Given the description of an element on the screen output the (x, y) to click on. 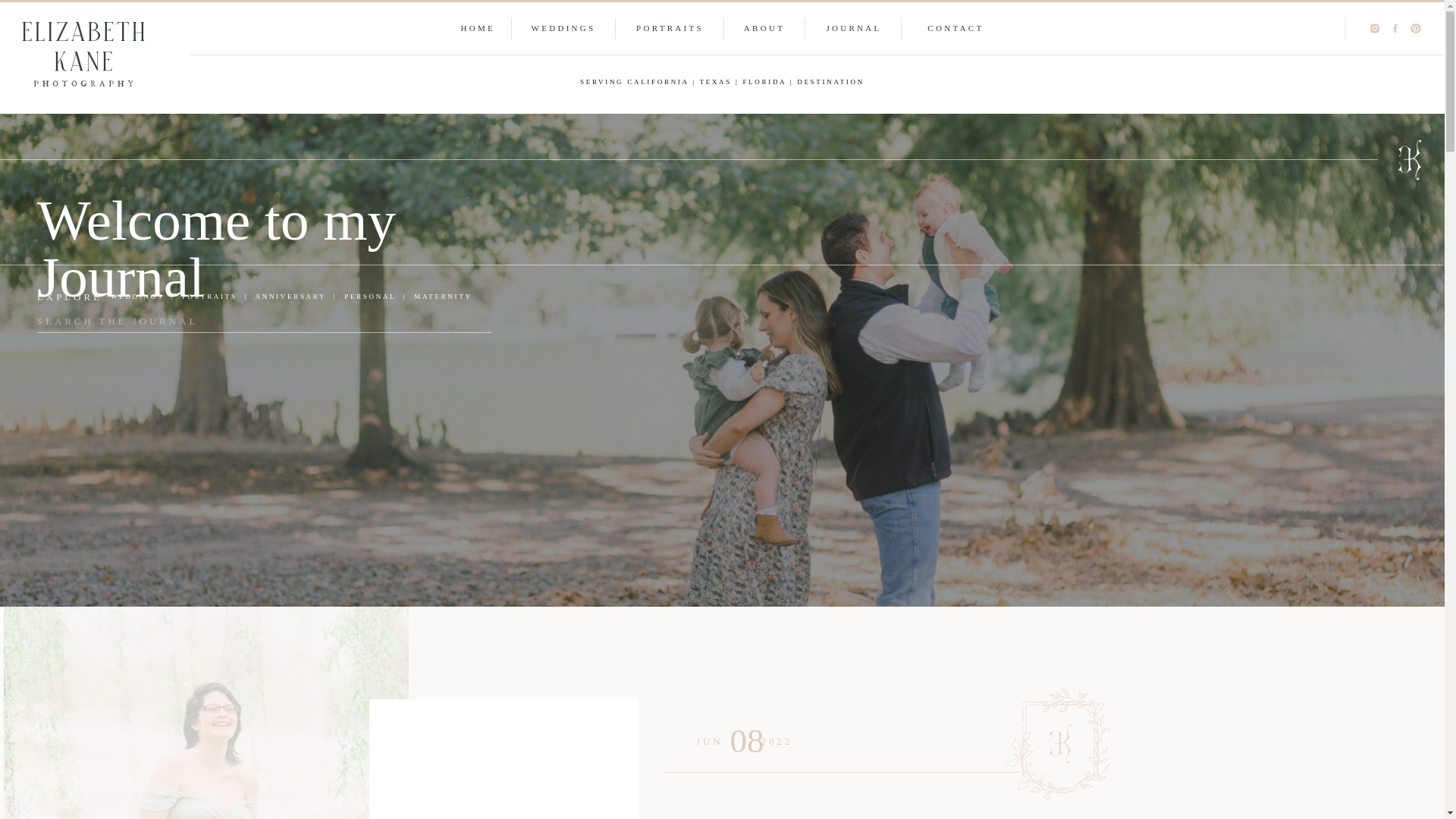
PORTRAITS (209, 296)
MATERNITY (442, 296)
WEDDINGS (136, 296)
PERSONAL (369, 296)
HOME (480, 27)
ANNIVERSARY (289, 296)
PORTRAITS (669, 27)
ABOUT (763, 27)
WEDDINGS (562, 27)
CONTACT (949, 27)
JOURNAL (852, 27)
